Given the description of an element on the screen output the (x, y) to click on. 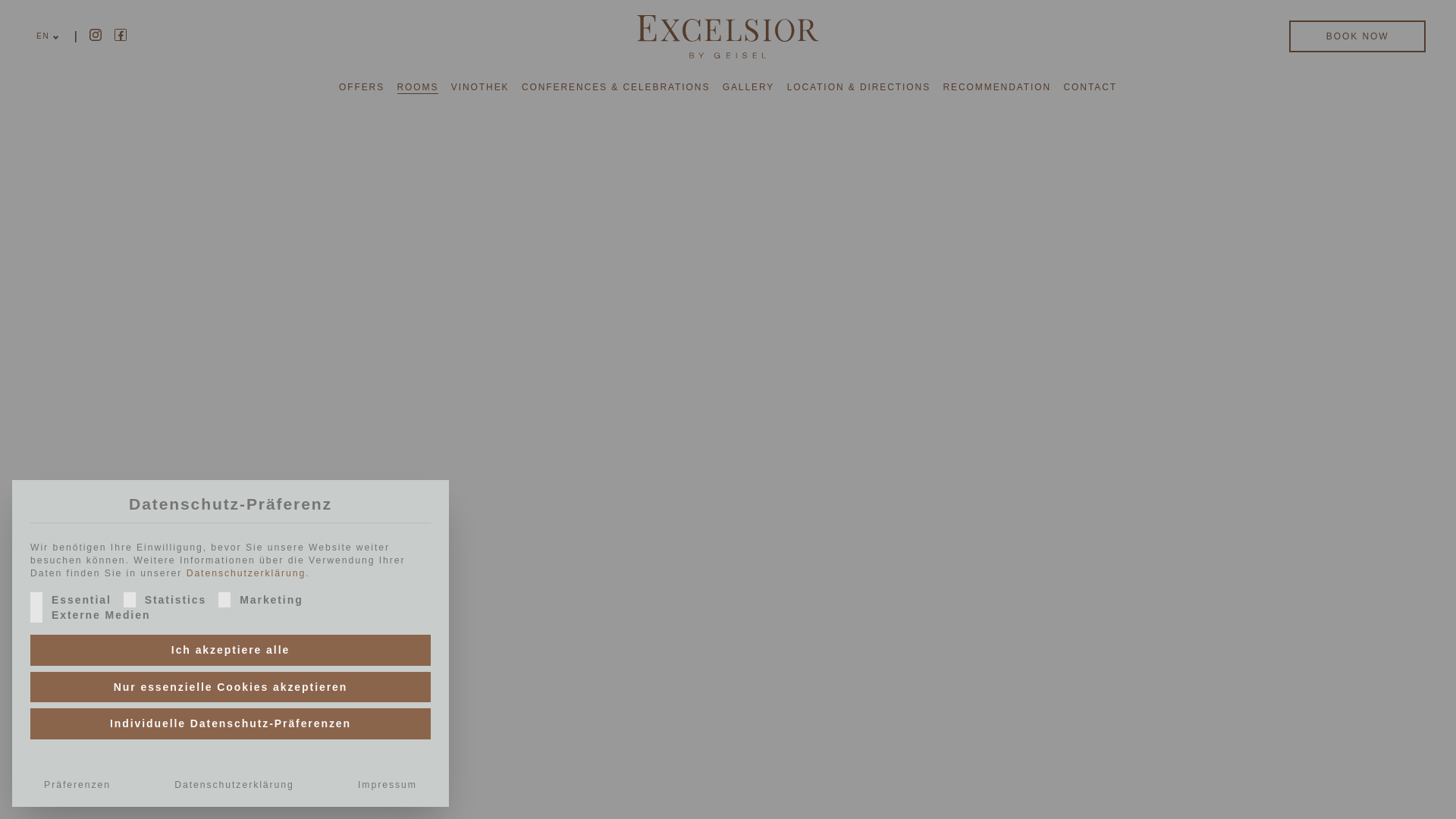
GALLERY (748, 86)
RECOMMENDATION (996, 86)
VINOTHEK (480, 86)
BOOK NOW (1356, 36)
ROOMS (418, 86)
Facebook (120, 34)
OFFERS (361, 86)
Instagram (94, 34)
